Given the description of an element on the screen output the (x, y) to click on. 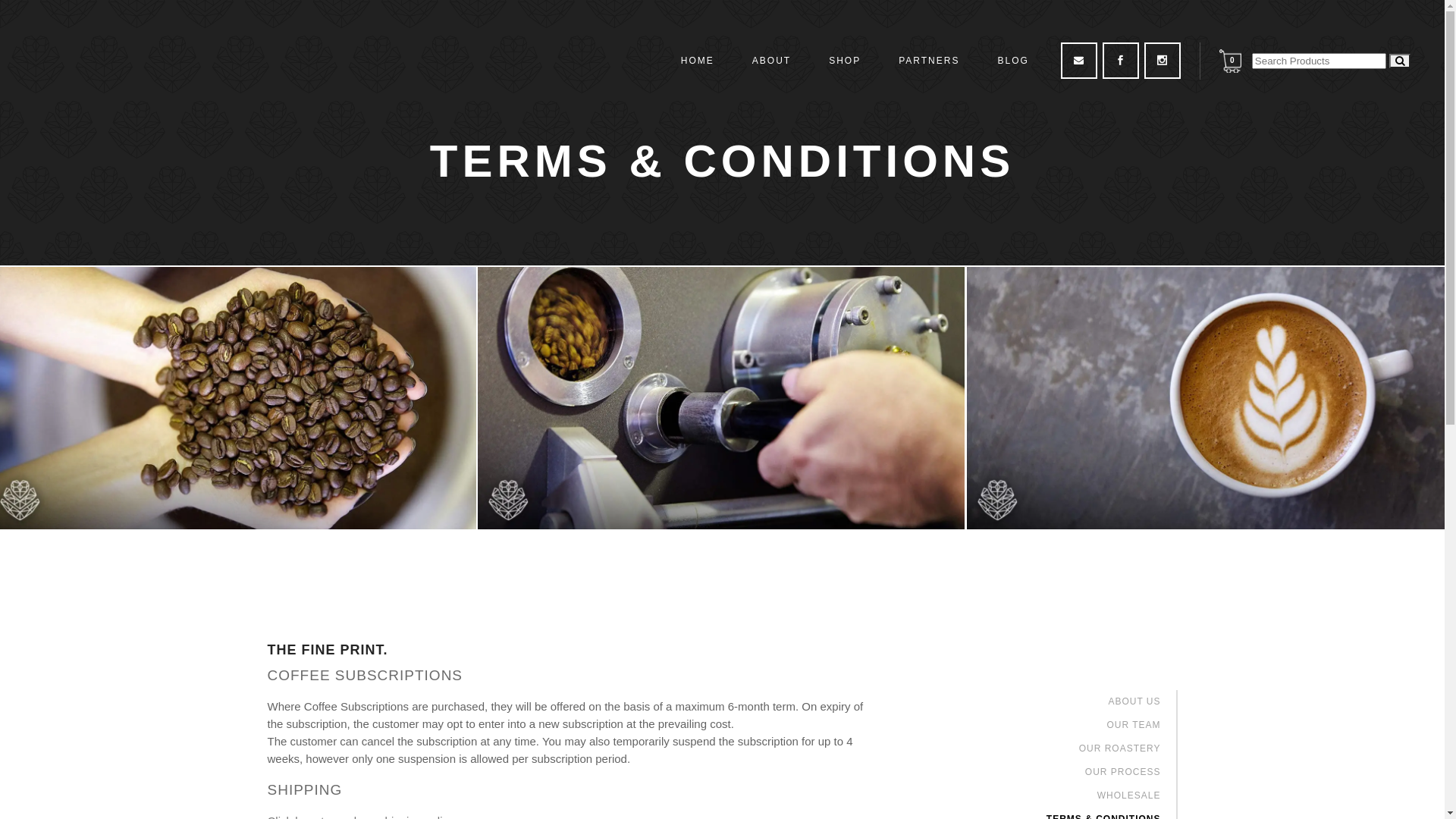
BLOG Element type: text (1012, 60)
aboutus-2 Element type: hover (720, 397)
PARTNERS Element type: text (928, 60)
ABOUT Element type: text (771, 60)
OUR ROASTERY Element type: text (1120, 748)
WHOLESALE Element type: text (1129, 795)
0 Element type: text (1232, 60)
terms-3 Element type: hover (1209, 397)
OUR TEAM Element type: text (1133, 724)
OUR PROCESS Element type: text (1123, 771)
HOME Element type: text (697, 60)
SHOP Element type: text (844, 60)
ABOUT US Element type: text (1133, 701)
